Given the description of an element on the screen output the (x, y) to click on. 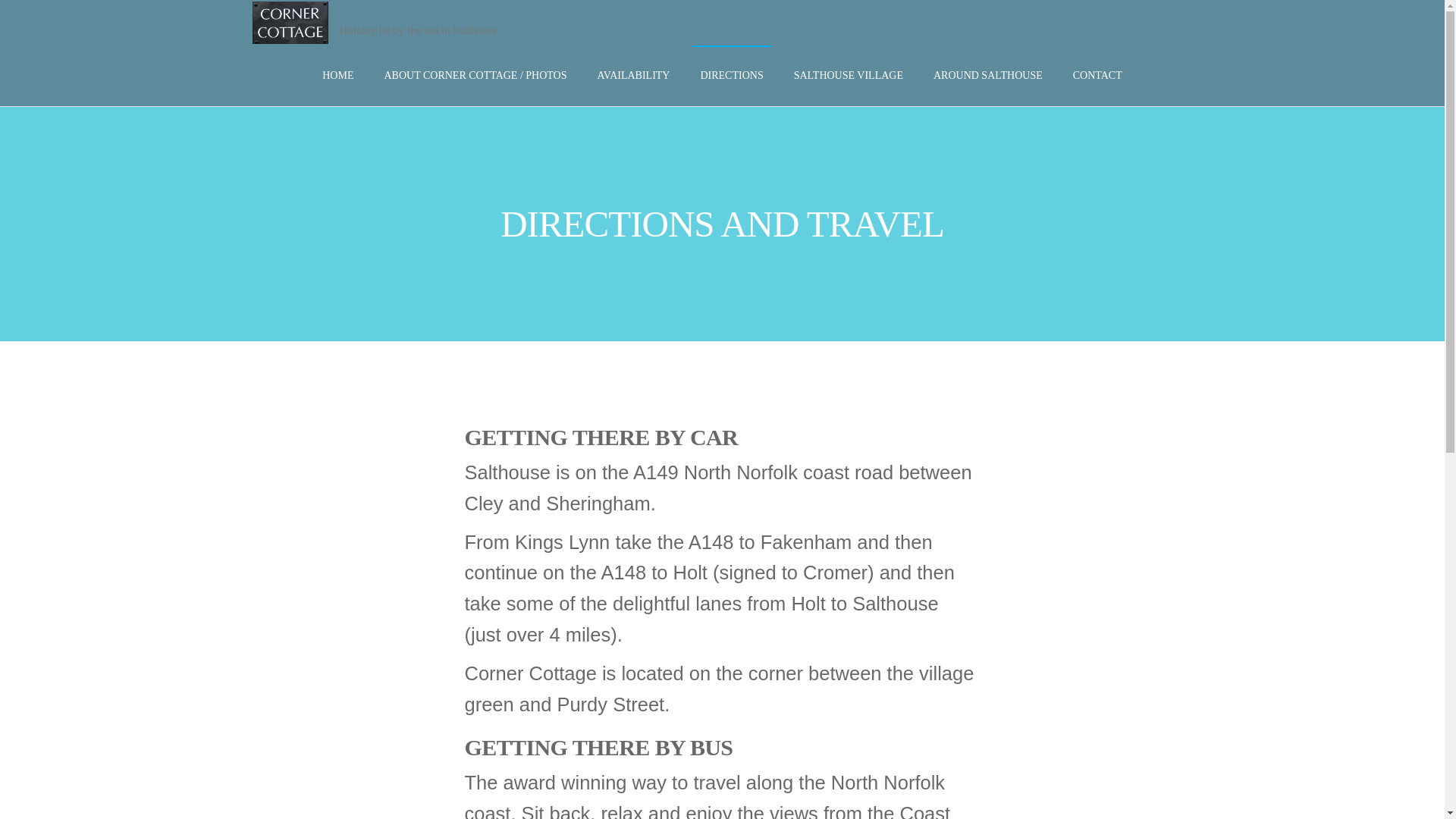
Salthouse Village (848, 75)
DIRECTIONS (731, 75)
AROUND SALTHOUSE (987, 75)
CORNER COTTAGE (387, 45)
CONTACT (1097, 75)
Contact (1097, 75)
Directions (731, 75)
Around Salthouse (987, 75)
Availability (633, 75)
AVAILABILITY (633, 75)
SALTHOUSE VILLAGE (848, 75)
